Given the description of an element on the screen output the (x, y) to click on. 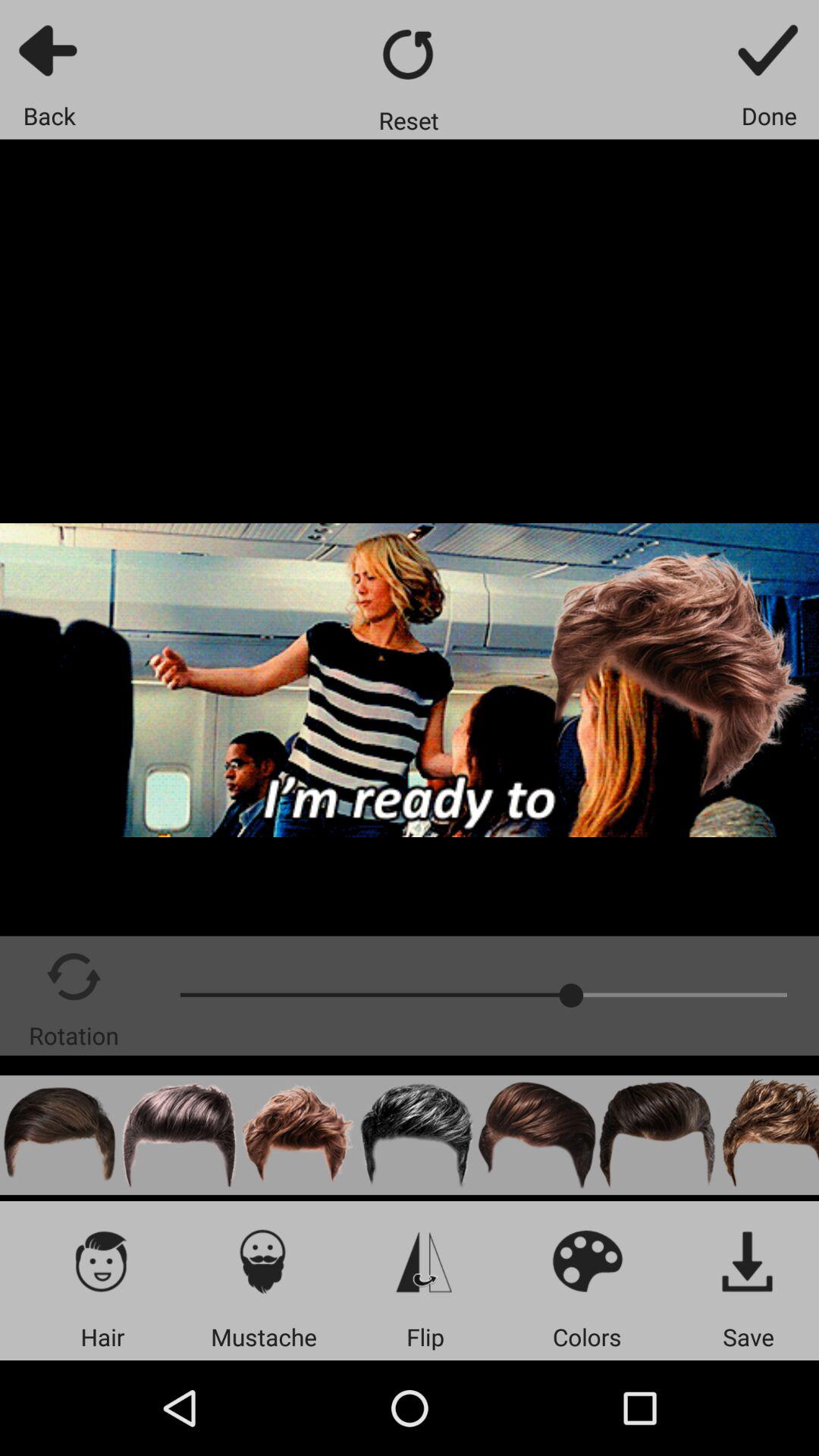
click the item above hair icon (102, 1260)
